Given the description of an element on the screen output the (x, y) to click on. 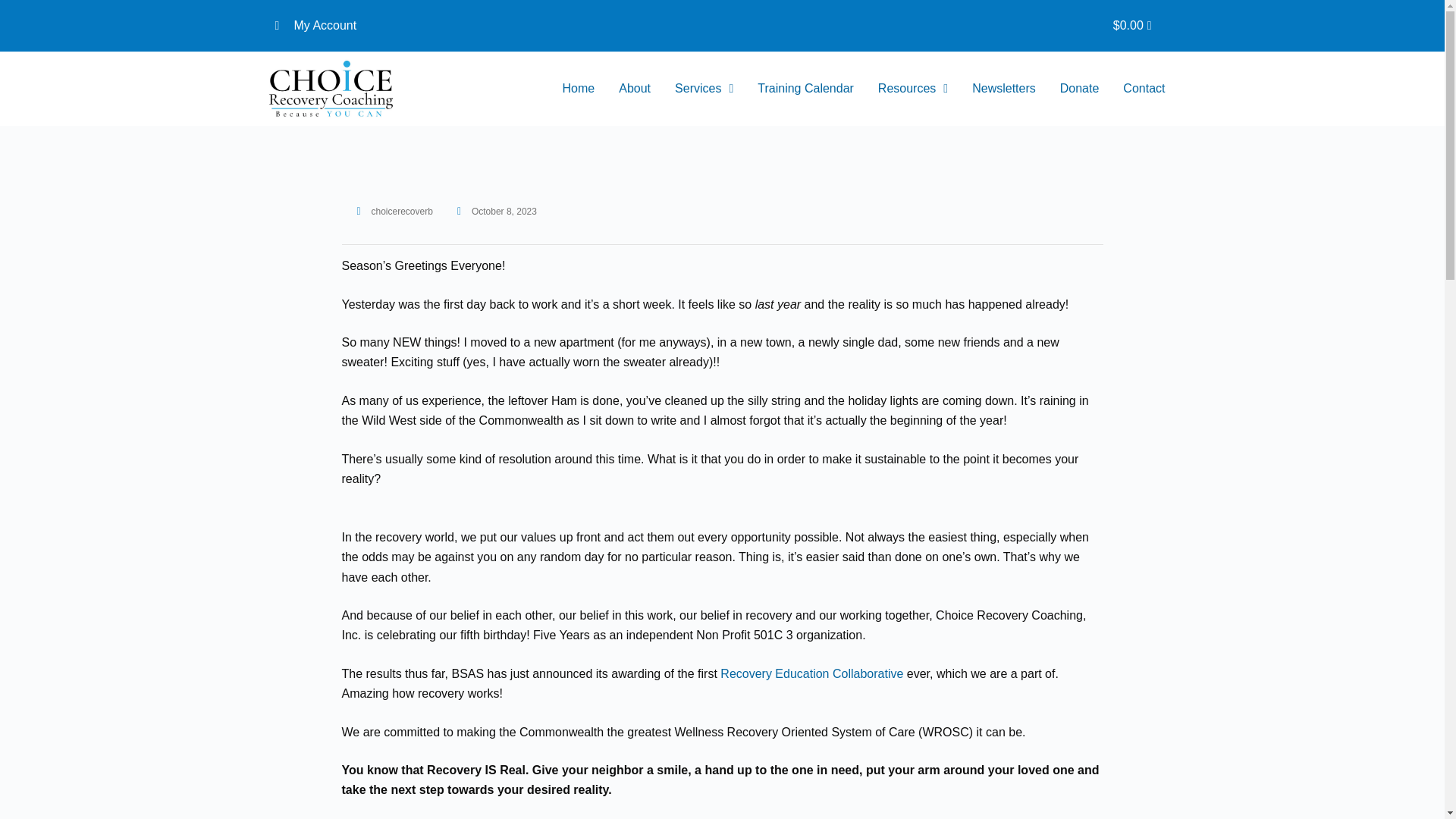
Contact (1143, 88)
Home (578, 88)
My Account (494, 25)
Donate (1080, 88)
Resources (912, 88)
Services (703, 88)
October 8, 2023 (497, 211)
Training Calendar (805, 88)
choicerecoverb (394, 211)
About (634, 88)
Skip to content (15, 7)
Newsletters (1003, 88)
Recovery Education Collaborative (812, 673)
